Given the description of an element on the screen output the (x, y) to click on. 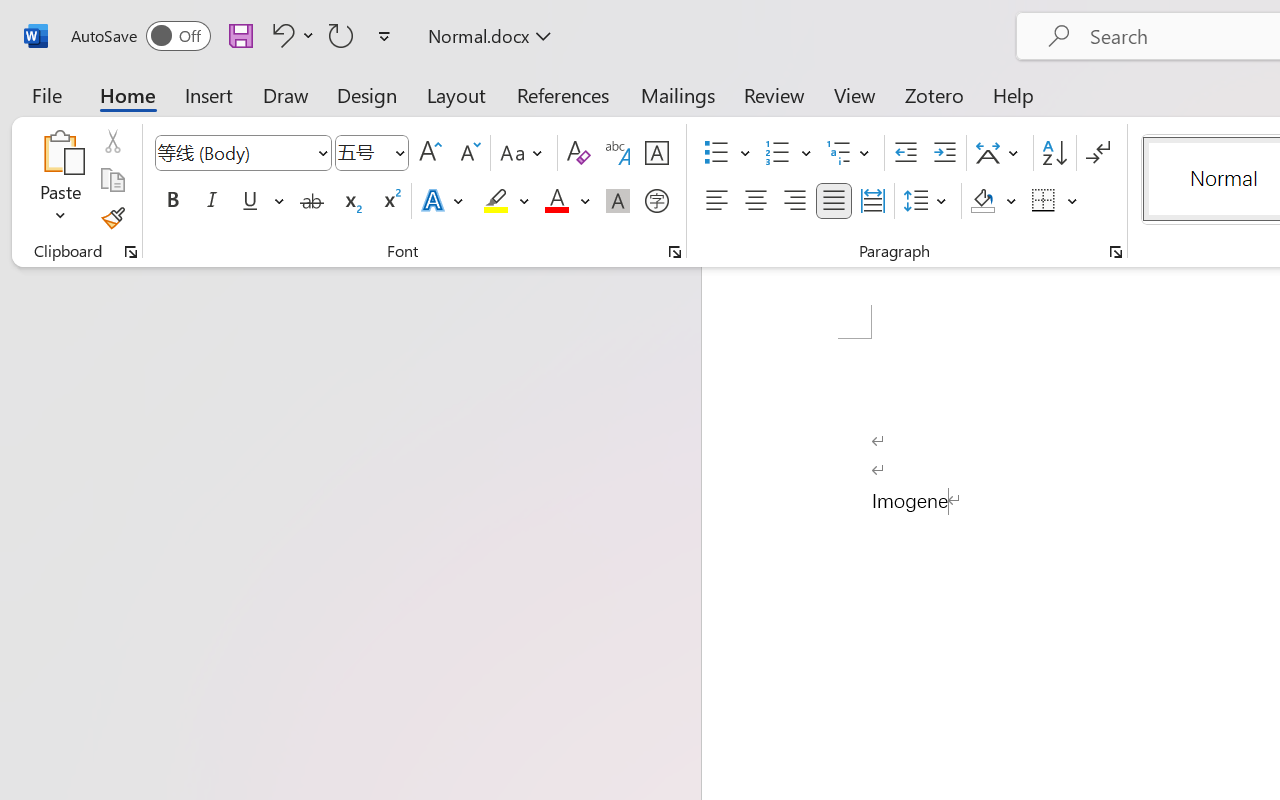
Bold (172, 201)
Distributed (872, 201)
Clear Formatting (578, 153)
Shading (993, 201)
Asian Layout (1000, 153)
Multilevel List (850, 153)
Justify (834, 201)
Show/Hide Editing Marks (1098, 153)
Superscript (390, 201)
